Given the description of an element on the screen output the (x, y) to click on. 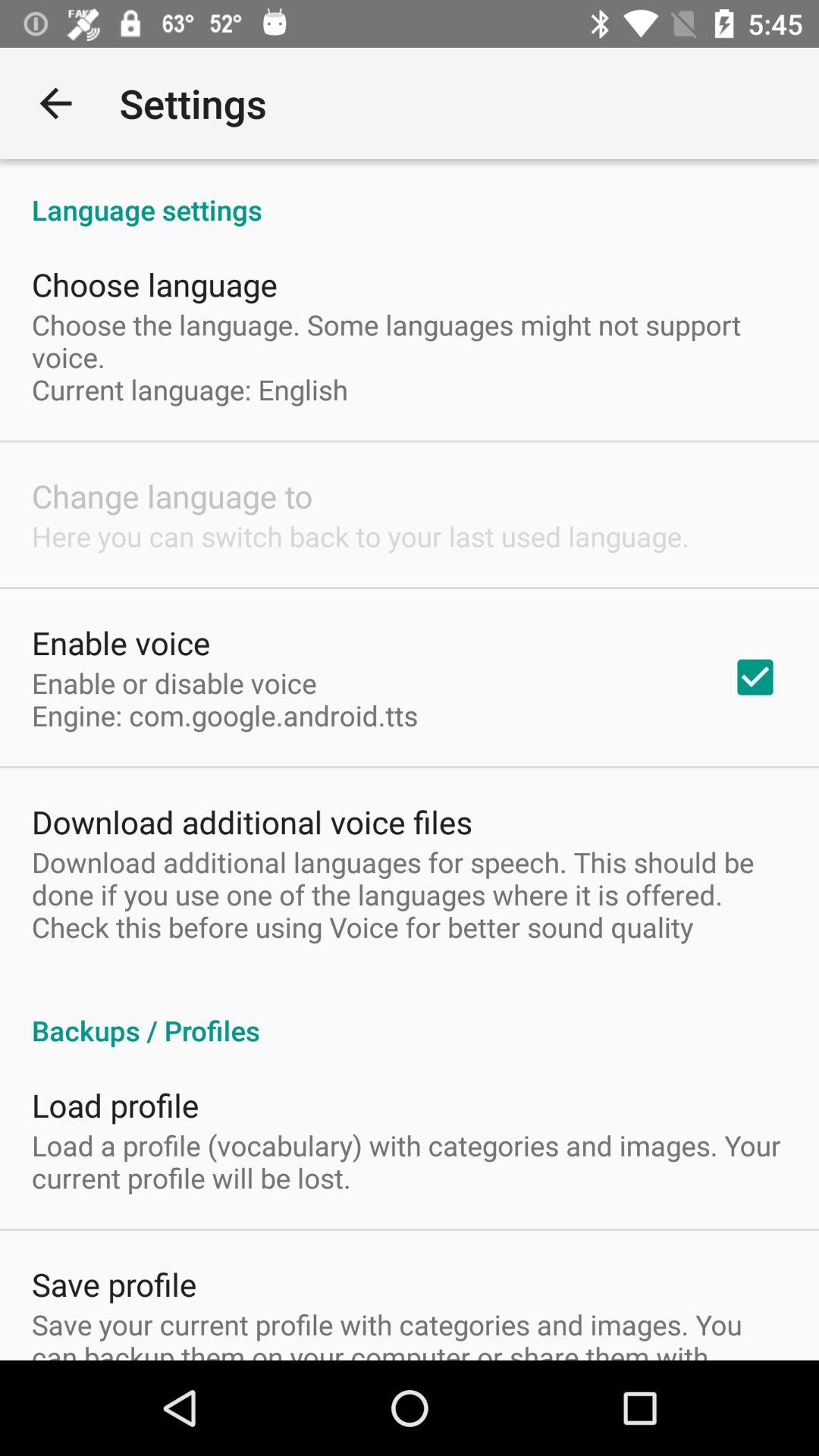
launch the item above language settings item (55, 103)
